Given the description of an element on the screen output the (x, y) to click on. 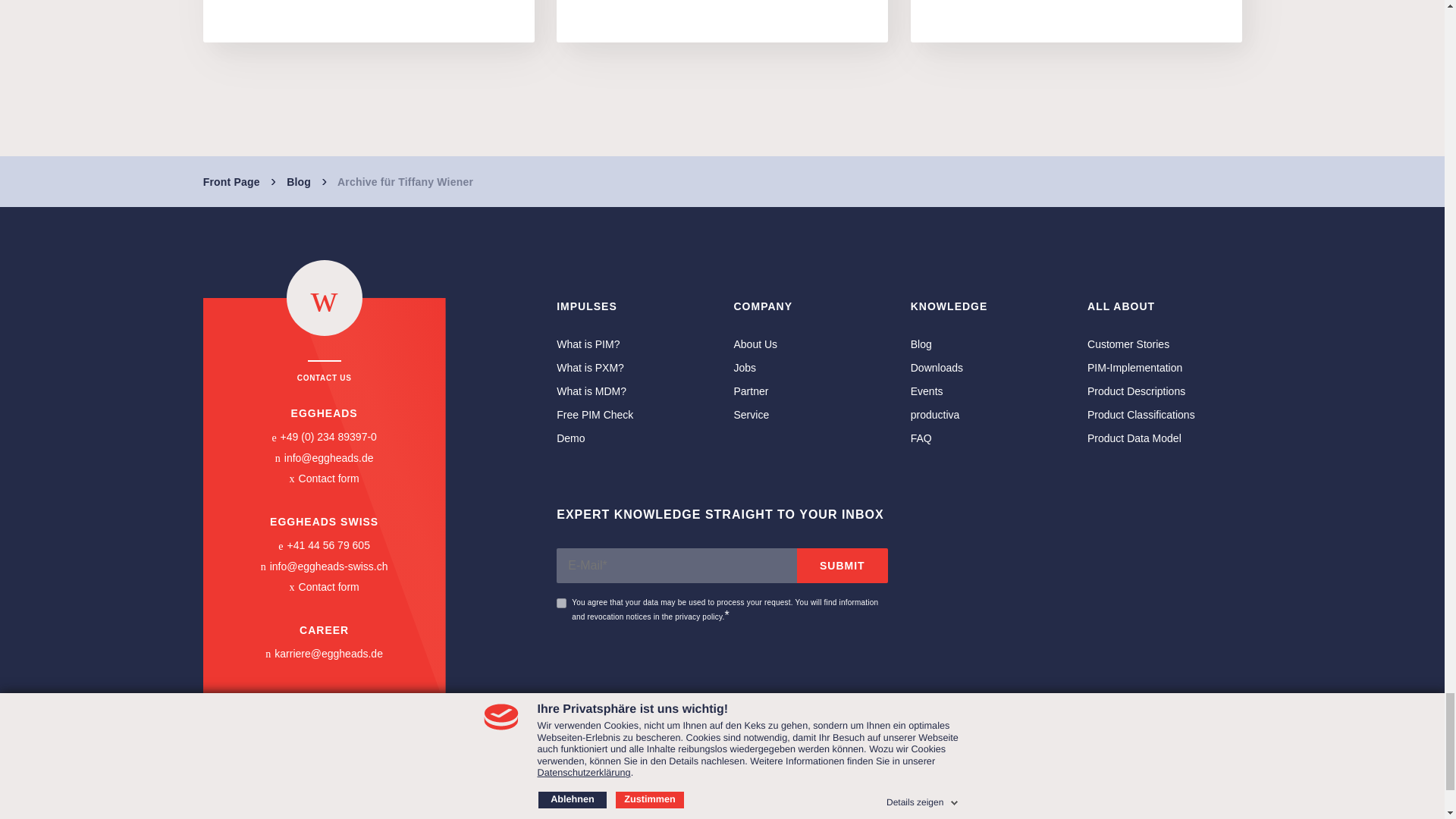
true (561, 603)
Submit (842, 565)
